Given the description of an element on the screen output the (x, y) to click on. 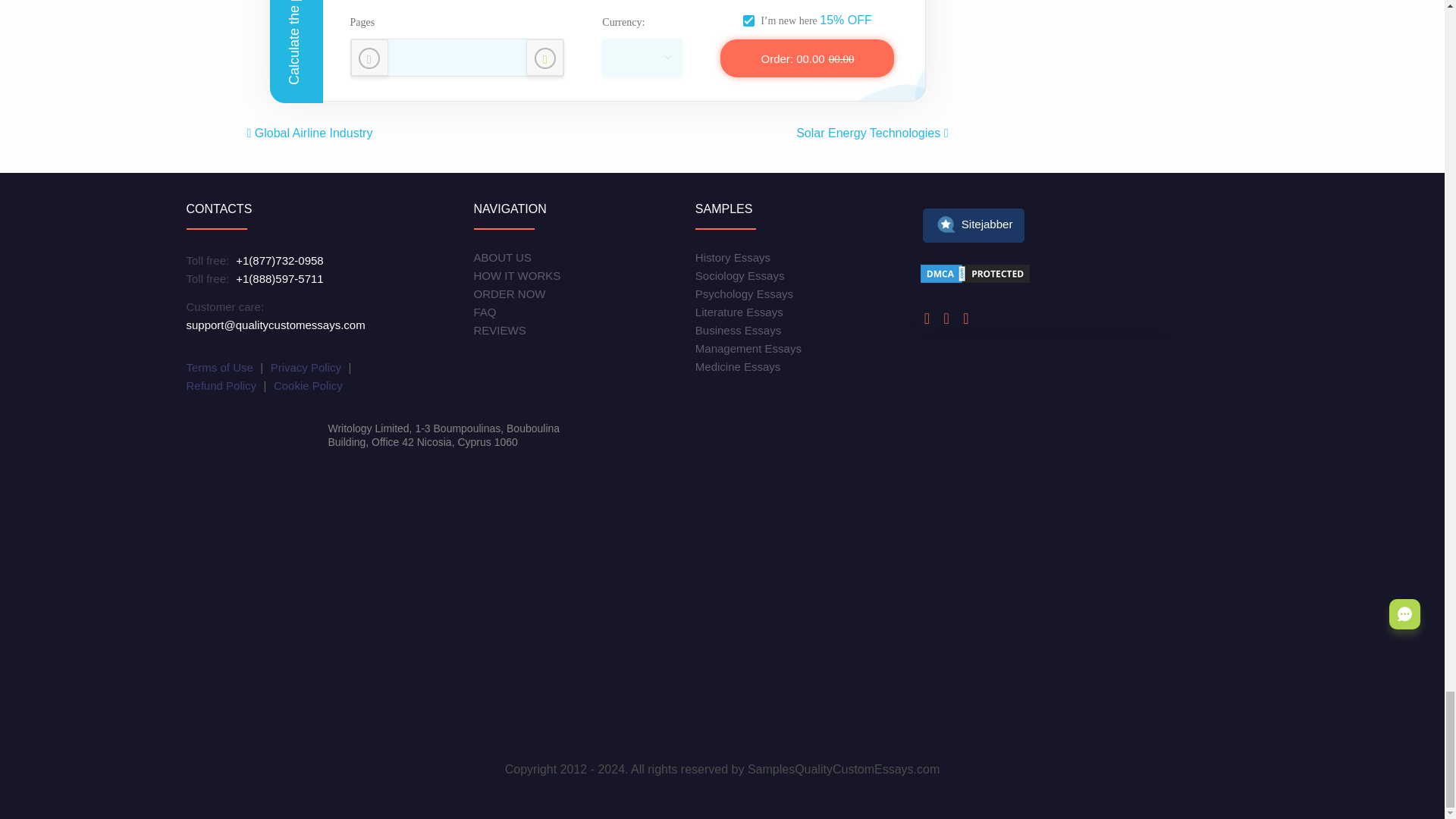
DMCA.com Protection Status (975, 276)
Minus (368, 57)
Global Airline Industry (309, 132)
Plus (544, 57)
Order: 00.0000.00 (806, 57)
Solar Energy Technologies (871, 132)
